Given the description of an element on the screen output the (x, y) to click on. 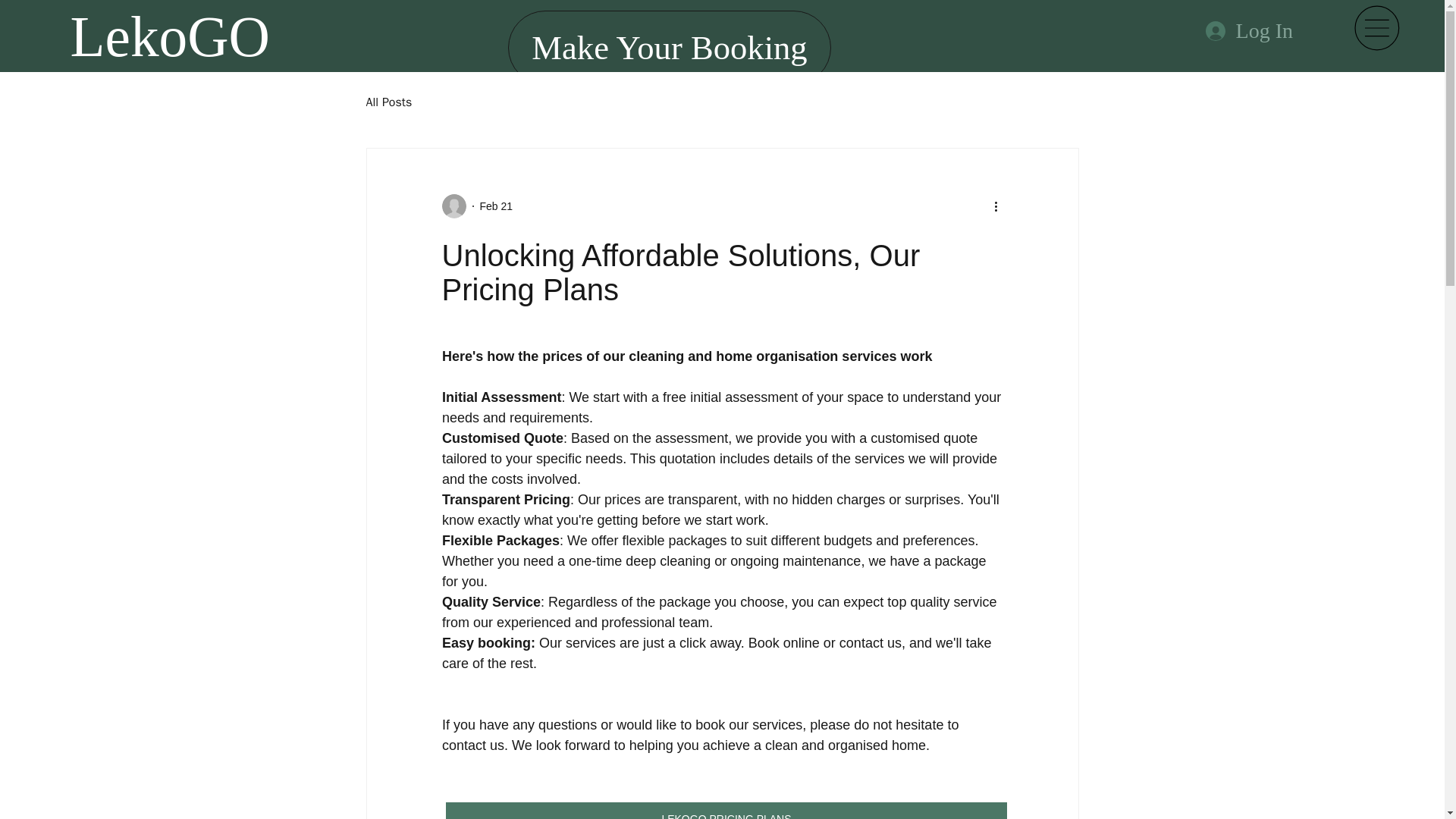
Make Your Booking (669, 47)
LEKOGO PRICING PLANS (726, 810)
LekoGO (169, 35)
Feb 21 (495, 205)
Log In (1249, 30)
All Posts (388, 101)
